Given the description of an element on the screen output the (x, y) to click on. 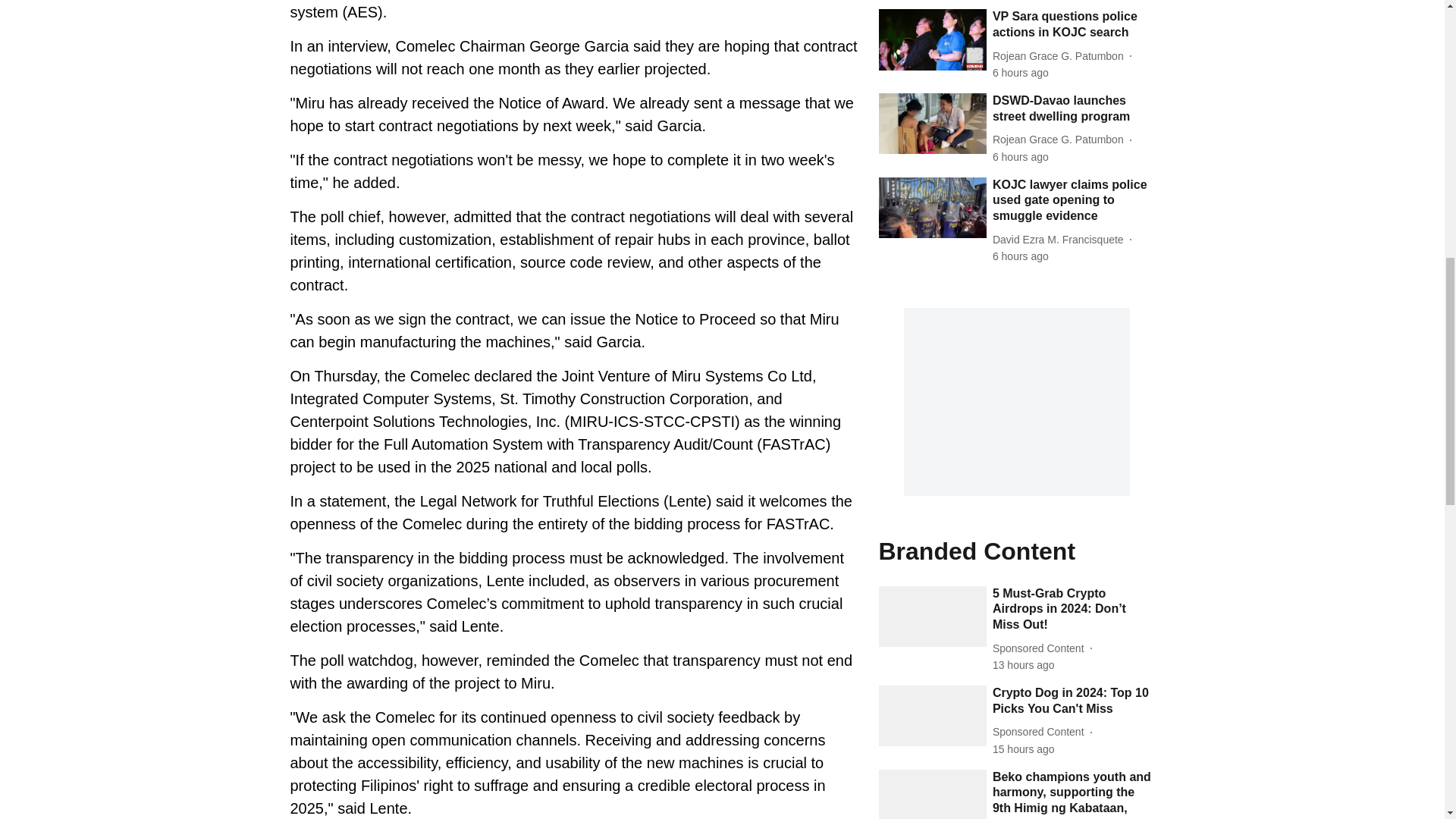
2024-09-02 16:01 (1020, 157)
2024-09-02 16:20 (1020, 73)
2024-09-02 15:50 (1020, 256)
2024-09-02 08:45 (1023, 665)
2024-09-02 07:33 (1023, 749)
